Given the description of an element on the screen output the (x, y) to click on. 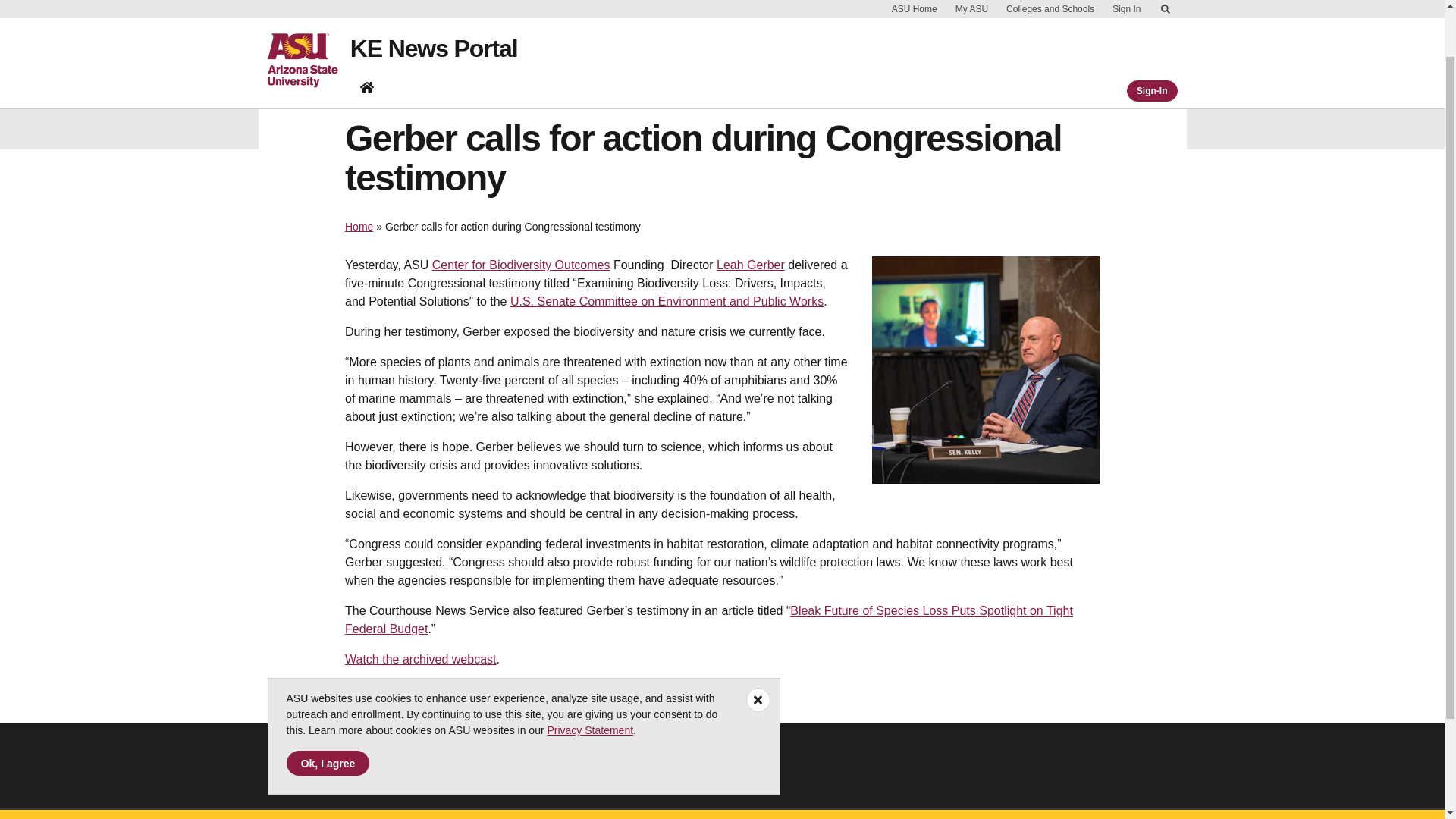
Home (358, 226)
Ok, I agree (327, 706)
Leah Gerber (750, 264)
KE News Portal home (367, 33)
Watch the archived webcast (420, 658)
ASU home (307, 22)
KE News Portal home (366, 30)
Privacy Statement (590, 673)
KE News Portal home (366, 30)
